Given the description of an element on the screen output the (x, y) to click on. 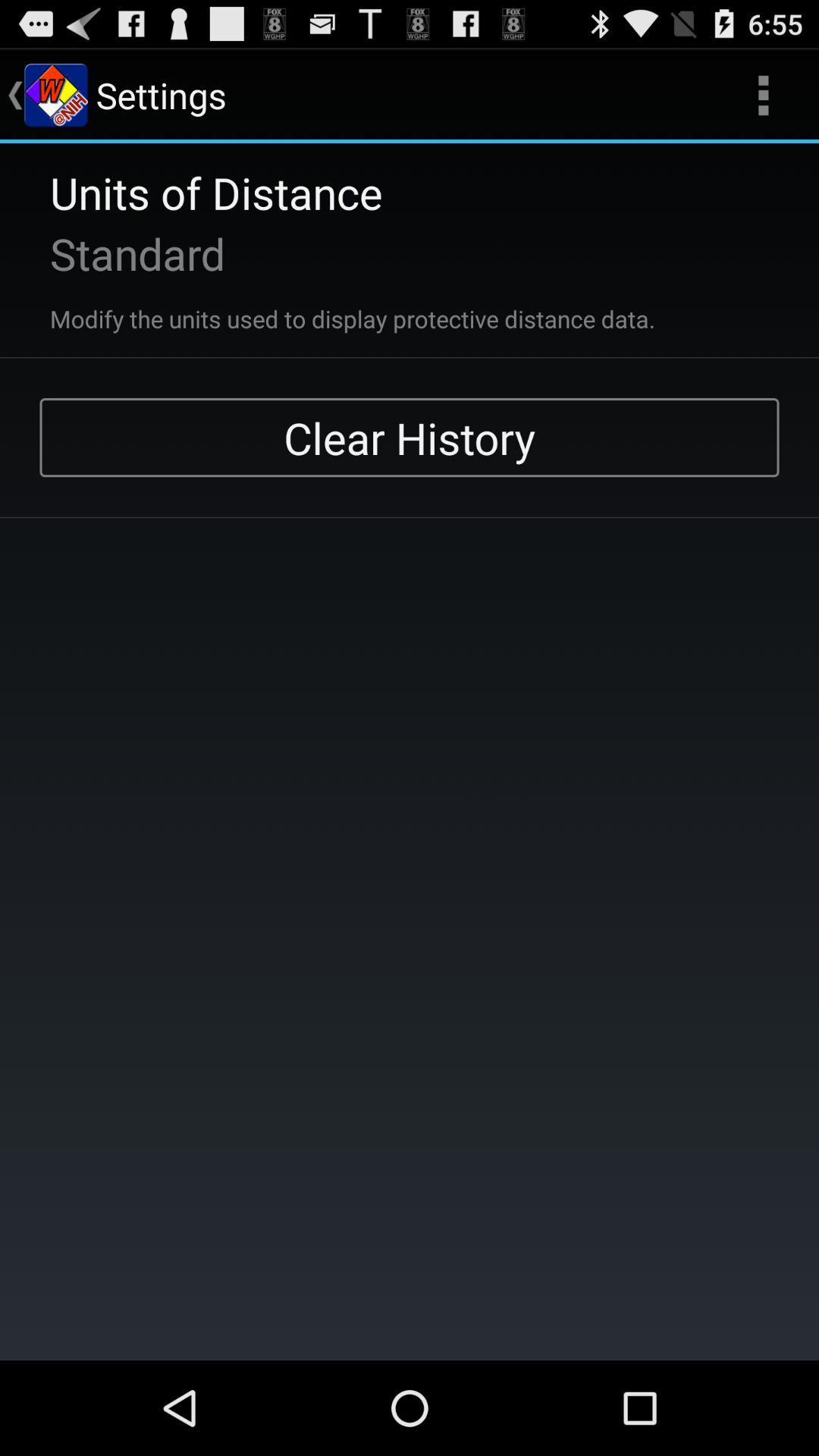
open standard (117, 253)
